Given the description of an element on the screen output the (x, y) to click on. 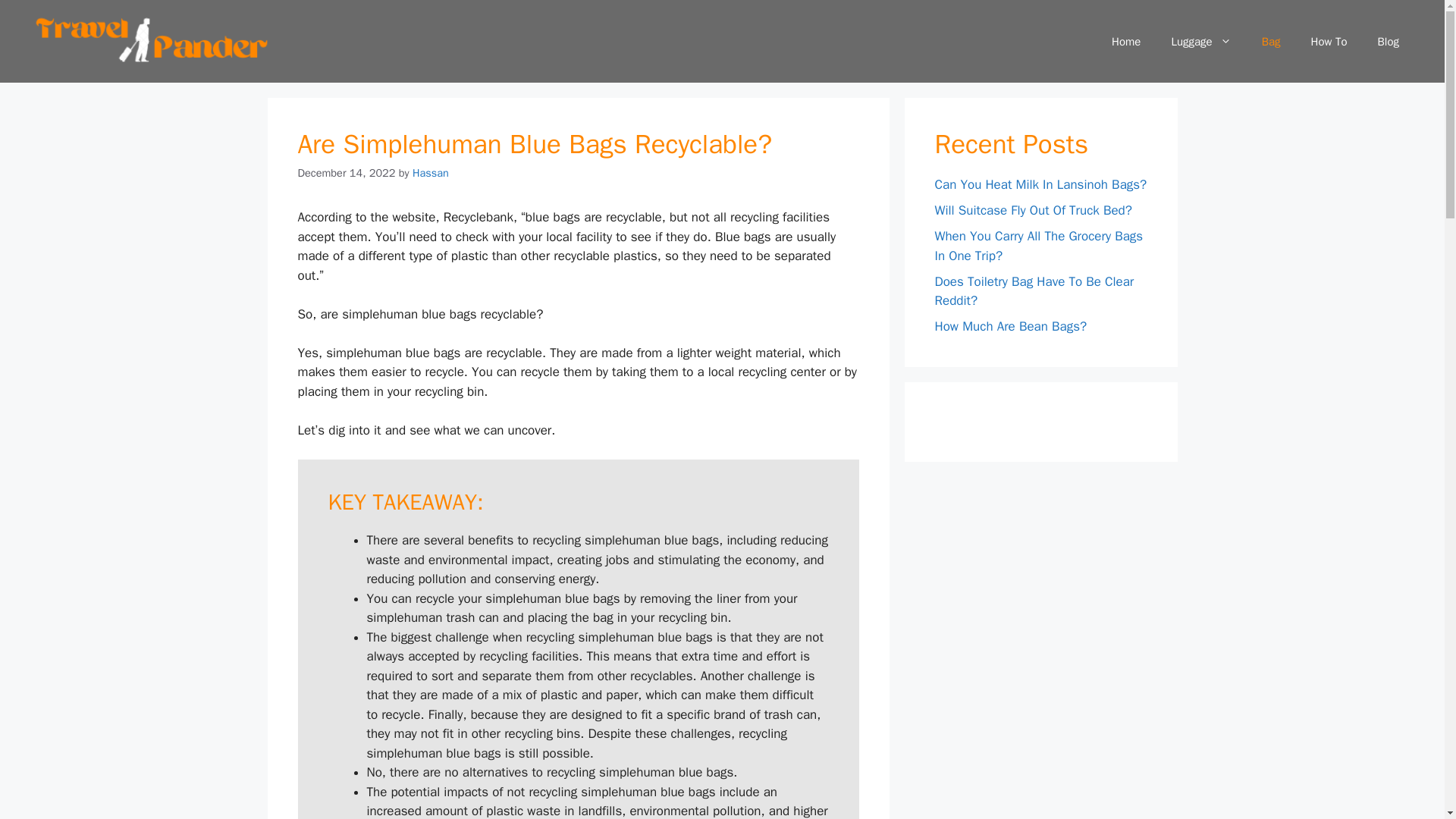
View all posts by Hassan (430, 172)
Luggage (1201, 41)
Can You Heat Milk In Lansinoh Bags? (1040, 184)
Bag (1270, 41)
How Much Are Bean Bags? (1010, 326)
Will Suitcase Fly Out Of Truck Bed? (1032, 210)
Blog (1387, 41)
Does Toiletry Bag Have To Be Clear Reddit? (1034, 291)
Hassan (430, 172)
Home (1126, 41)
When You Carry All The Grocery Bags In One Trip? (1038, 245)
How To (1328, 41)
